Given the description of an element on the screen output the (x, y) to click on. 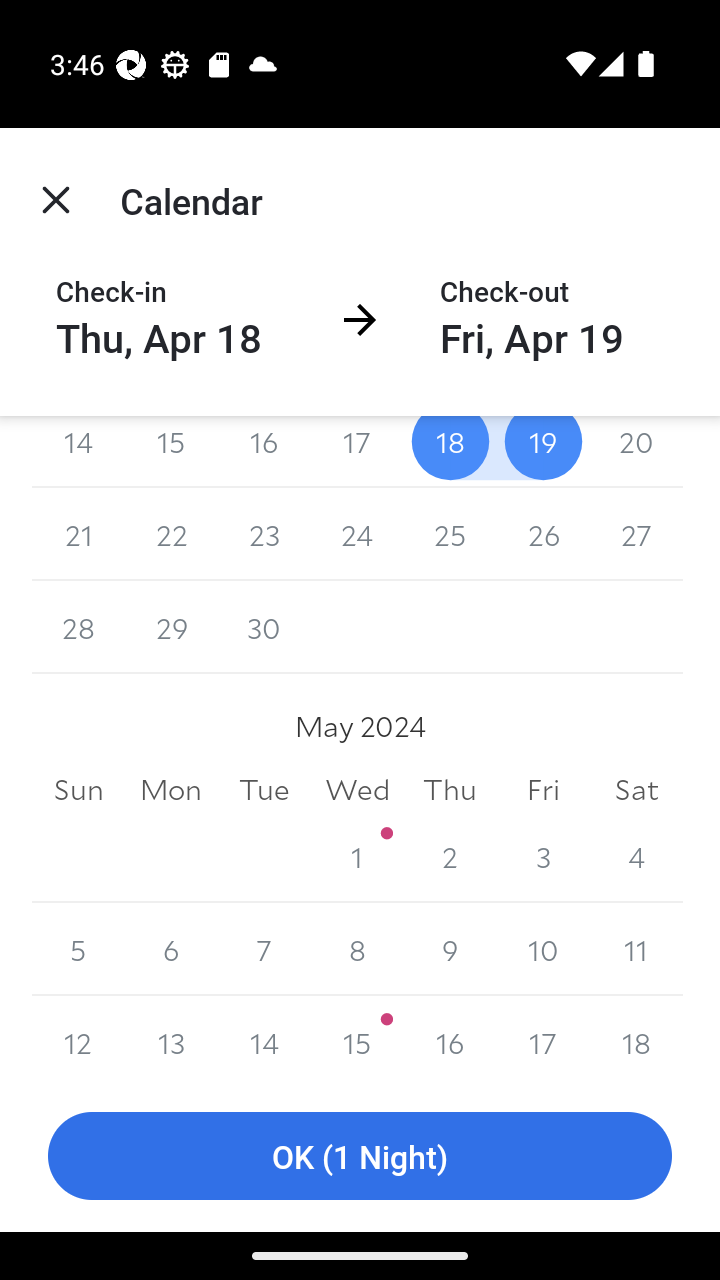
14 14 April 2024 (78, 451)
15 15 April 2024 (171, 451)
16 16 April 2024 (264, 451)
17 17 April 2024 (357, 451)
18 18 April 2024 (449, 451)
19 19 April 2024 (542, 451)
20 20 April 2024 (636, 451)
21 21 April 2024 (78, 534)
22 22 April 2024 (171, 534)
23 23 April 2024 (264, 534)
24 24 April 2024 (357, 534)
25 25 April 2024 (449, 534)
26 26 April 2024 (542, 534)
27 27 April 2024 (636, 534)
28 28 April 2024 (78, 627)
29 29 April 2024 (171, 627)
30 30 April 2024 (264, 627)
Sun (78, 789)
Mon (171, 789)
Tue (264, 789)
Wed (357, 789)
Thu (449, 789)
Fri (542, 789)
Sat (636, 789)
1 1 May 2024 (357, 856)
2 2 May 2024 (449, 856)
3 3 May 2024 (542, 856)
4 4 May 2024 (636, 856)
5 5 May 2024 (78, 948)
6 6 May 2024 (171, 948)
7 7 May 2024 (264, 948)
8 8 May 2024 (357, 948)
9 9 May 2024 (449, 948)
10 10 May 2024 (542, 948)
11 11 May 2024 (636, 948)
12 12 May 2024 (78, 1037)
13 13 May 2024 (171, 1037)
14 14 May 2024 (264, 1037)
15 15 May 2024 (357, 1037)
16 16 May 2024 (449, 1037)
17 17 May 2024 (542, 1037)
18 18 May 2024 (636, 1037)
OK (1 Night) (359, 1156)
